Given the description of an element on the screen output the (x, y) to click on. 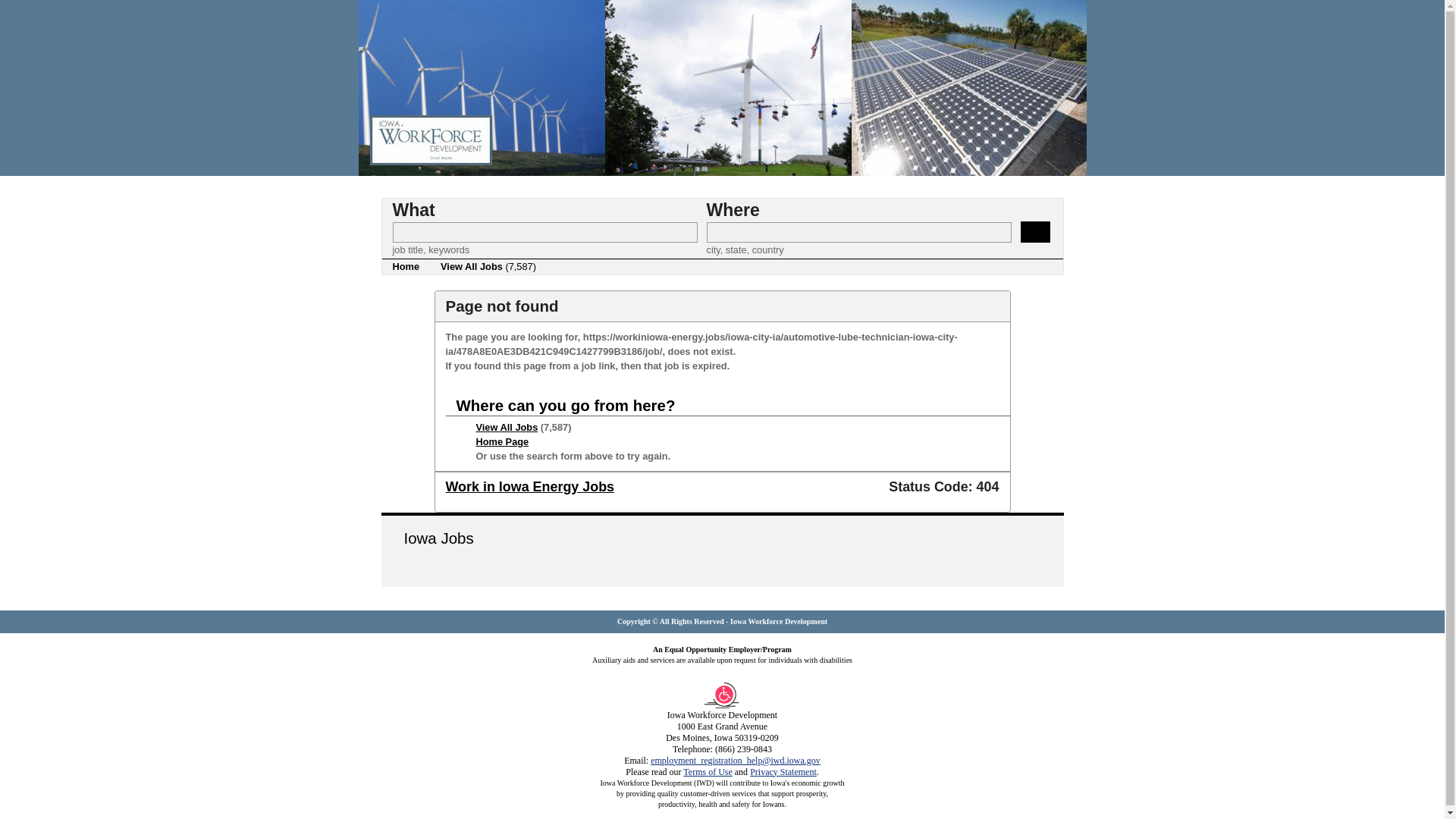
Privacy Statement (782, 770)
Accessibility (721, 705)
Home (405, 266)
Work In Iowa (722, 172)
search (1034, 231)
Terms of Use (707, 770)
Search Location (858, 231)
search (1034, 231)
Work in Iowa Energy Jobs (529, 486)
View All Jobs (507, 427)
